Given the description of an element on the screen output the (x, y) to click on. 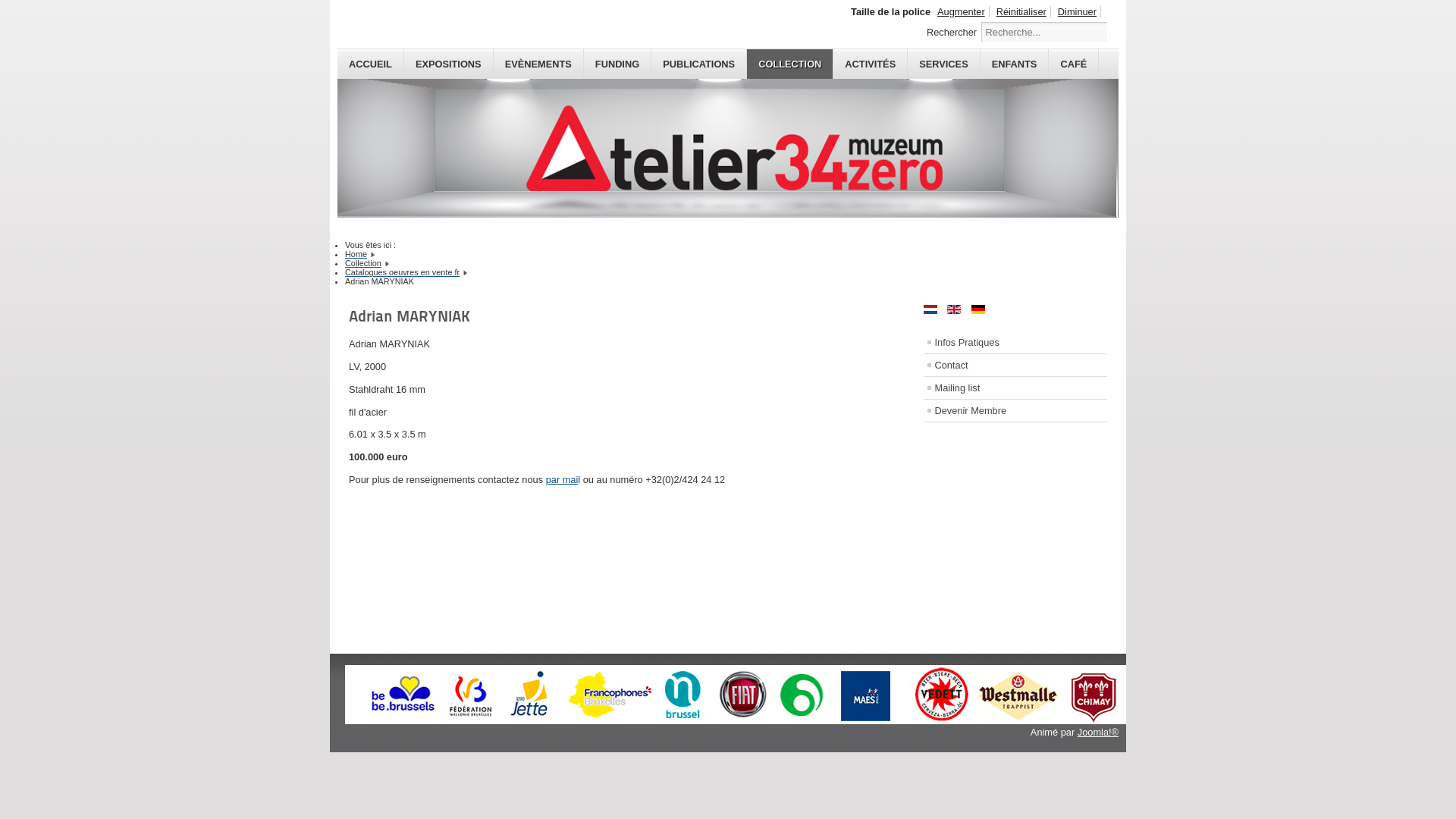
Devenir Membre Element type: text (1015, 410)
Infos Pratiques Element type: text (1015, 342)
Diminuer Element type: text (1077, 11)
Mailing list Element type: text (1015, 387)
PUBLICATIONS Element type: text (698, 63)
SERVICES Element type: text (943, 63)
Collection Element type: text (363, 262)
ENFANTS Element type: text (1014, 63)
Catalogues oeuvres en vente fr Element type: text (402, 271)
Home Element type: text (356, 253)
par mai Element type: text (562, 479)
EXPOSITIONS Element type: text (448, 63)
Augmenter Element type: text (961, 11)
ACCUEIL Element type: text (370, 63)
COLLECTION Element type: text (789, 63)
Nederlands (Nl) Element type: hover (930, 308)
Deutsch (DE) Element type: hover (978, 308)
English (UK) Element type: hover (953, 308)
Contact Element type: text (1015, 365)
FUNDING Element type: text (617, 63)
